Given the description of an element on the screen output the (x, y) to click on. 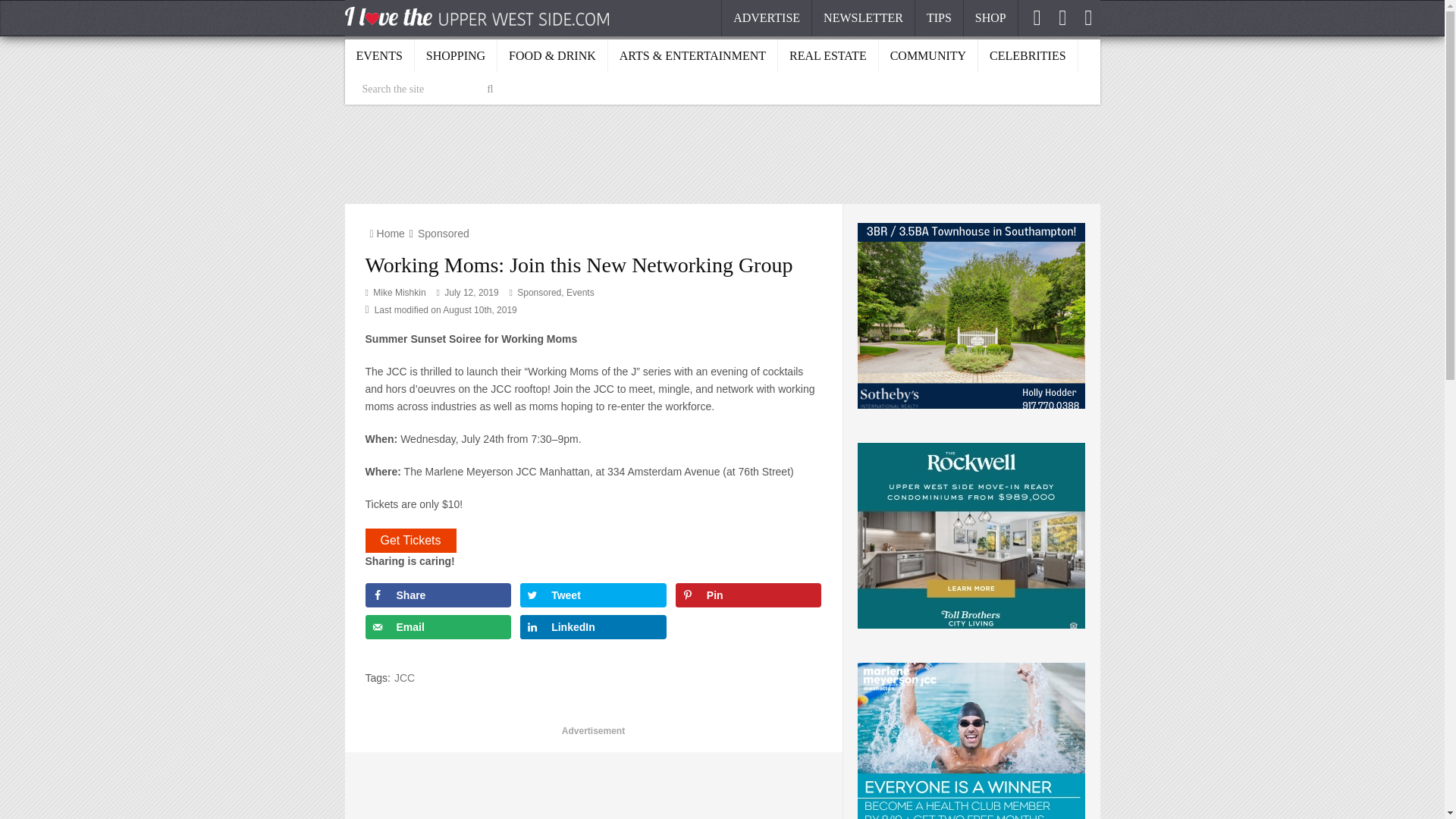
CELEBRITIES (1027, 55)
Share on Twitter (592, 595)
View all posts in Events (580, 292)
Twitter (1064, 17)
ADVERTISE (766, 18)
REAL ESTATE (828, 55)
SHOPPING (455, 55)
Share on Facebook (438, 595)
COMMUNITY (928, 55)
EVENTS (378, 55)
SHOP (990, 18)
Share on LinkedIn (592, 627)
NEWSLETTER (863, 18)
View all posts in Sponsored (538, 292)
TIPS (939, 18)
